Given the description of an element on the screen output the (x, y) to click on. 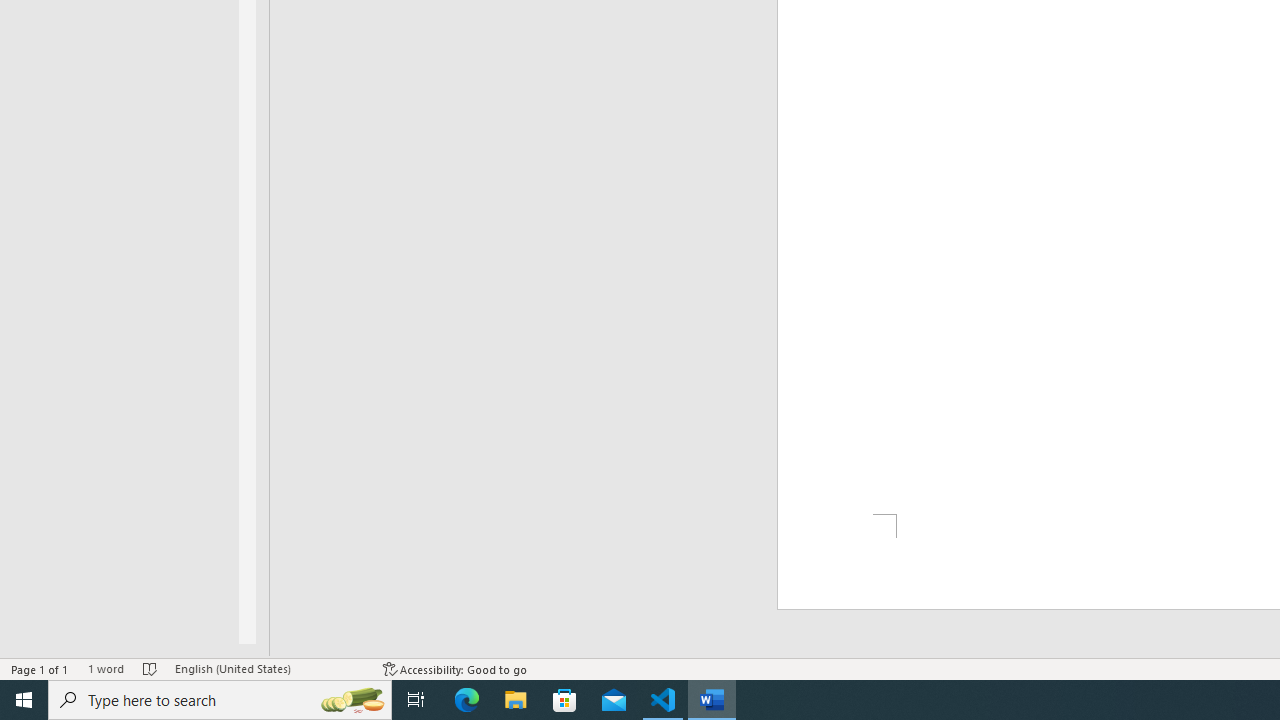
Spelling and Grammar Check No Errors (150, 668)
Language English (United States) (269, 668)
Page Number Page 1 of 1 (39, 668)
Accessibility Checker Accessibility: Good to go (455, 668)
